Given the description of an element on the screen output the (x, y) to click on. 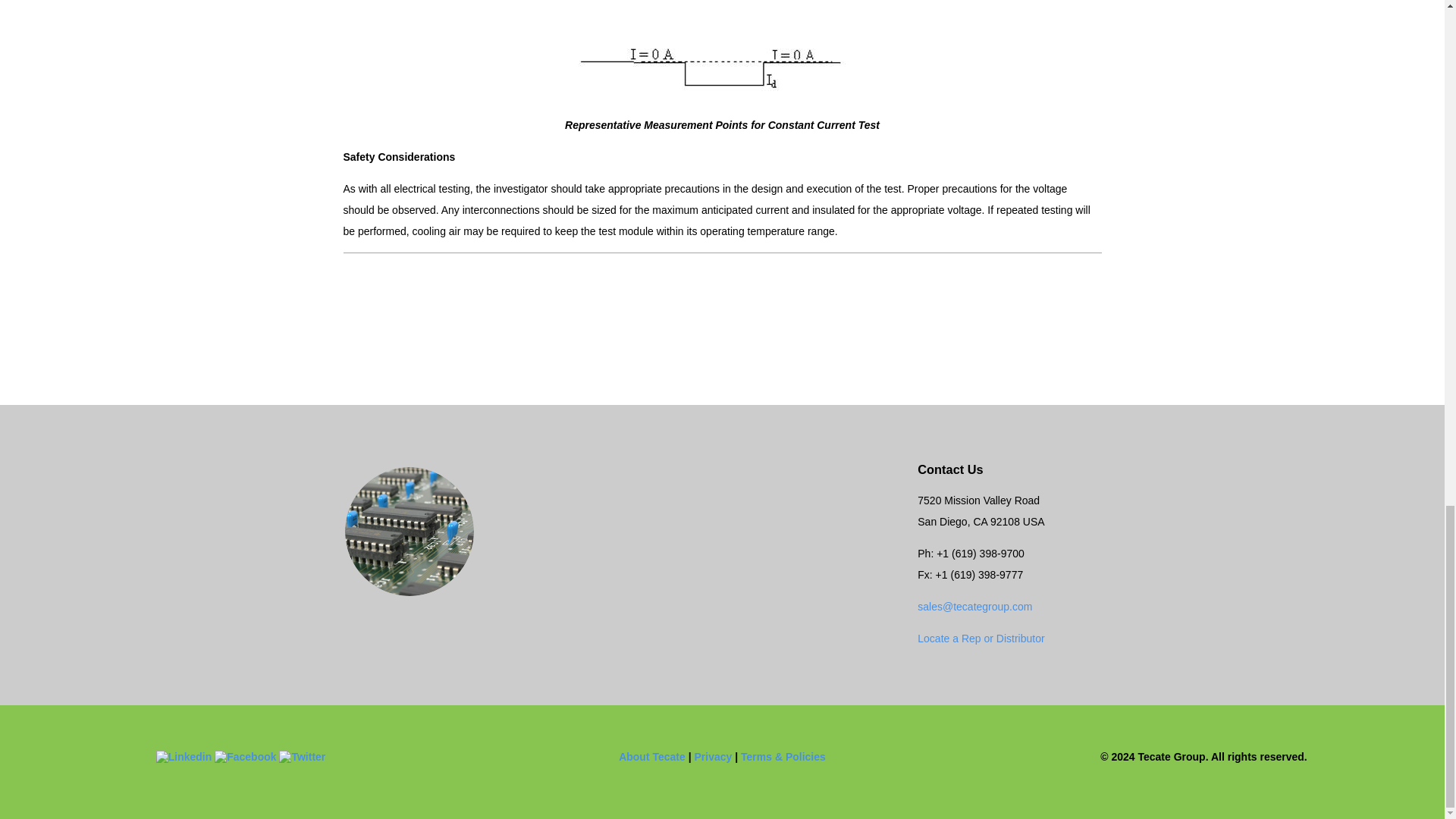
Locate a Rep or Distributor (980, 638)
Privacy (713, 756)
About Tecate (651, 756)
